Given the description of an element on the screen output the (x, y) to click on. 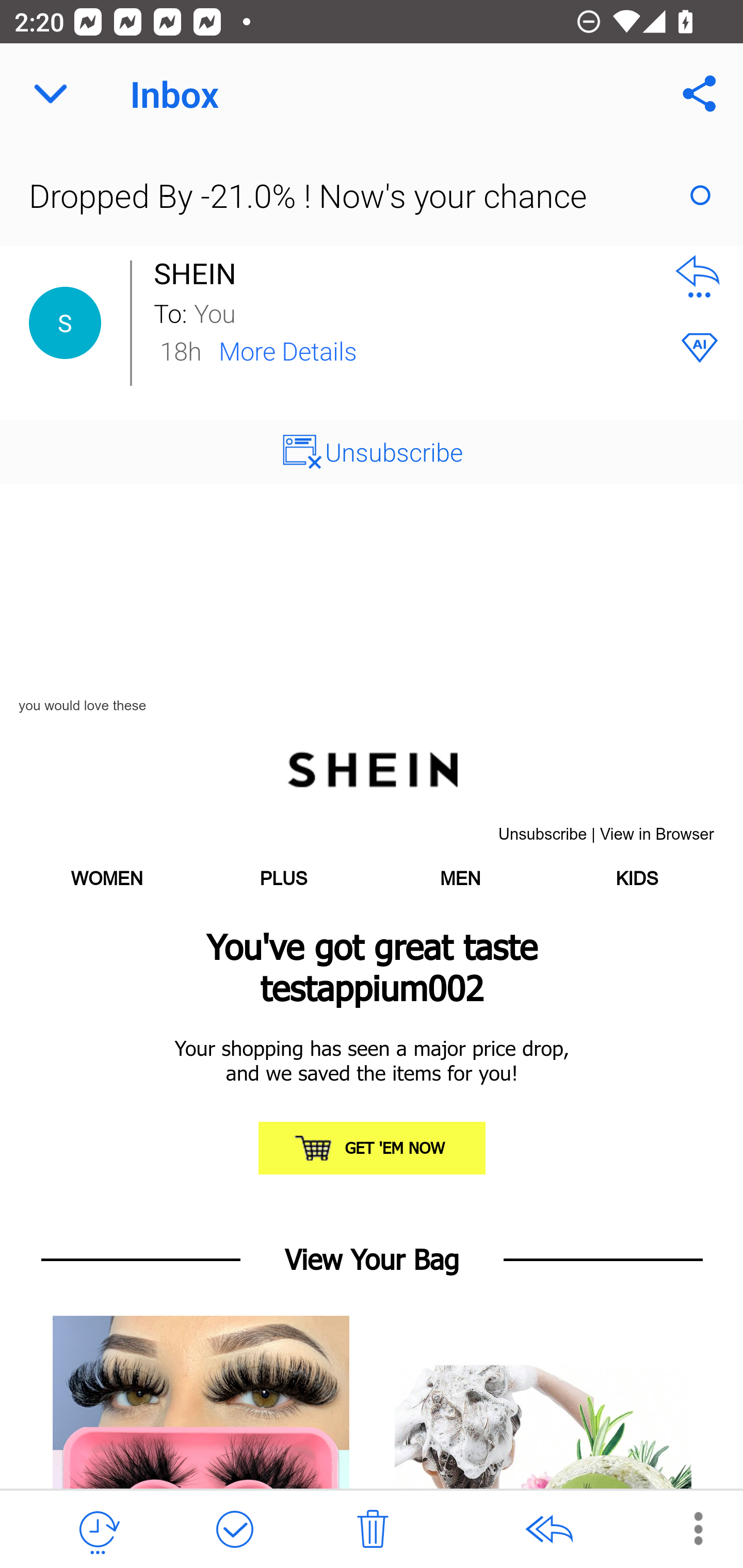
Navigate up (50, 93)
Share (699, 93)
Mark as Read (699, 194)
SHEIN (200, 273)
Contact Details (64, 322)
You (422, 311)
More Details (287, 349)
Unsubscribe (371, 452)
Unsubscribe (393, 451)
you would love these (82, 705)
shein (371, 767)
Unsubscribe (542, 834)
View in Browser (656, 834)
WOMEN (106, 878)
PLUS (282, 878)
MEN (460, 878)
KIDS (636, 878)
More Options (687, 1528)
Snooze (97, 1529)
Mark as Done (234, 1529)
Delete (372, 1529)
Reply All (548, 1529)
